Given the description of an element on the screen output the (x, y) to click on. 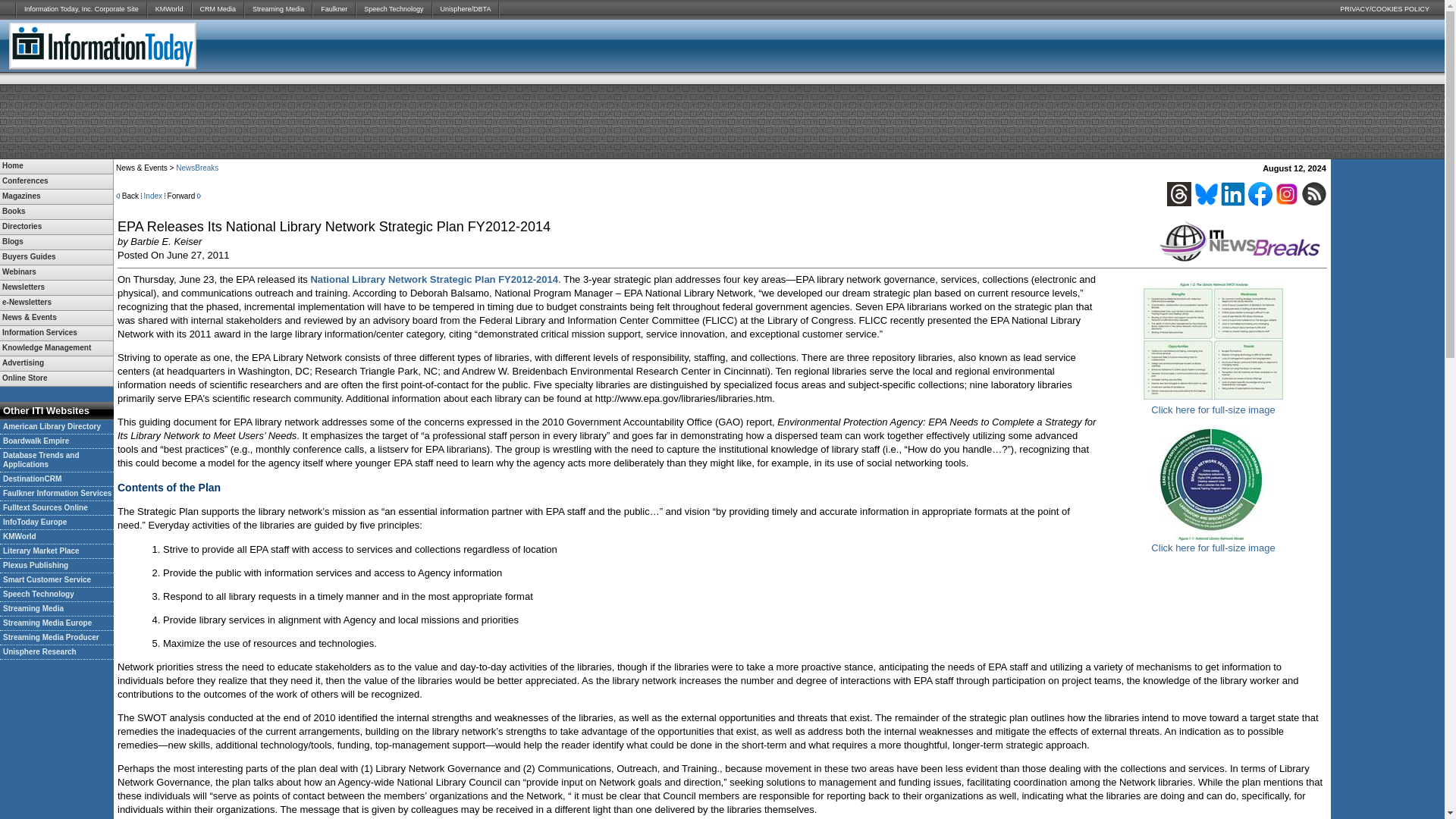
Conferences (56, 181)
Speech Technology (393, 9)
Faulkner (334, 9)
Information Today, Inc. Corporate Site (81, 9)
Home (56, 165)
3rd party ad content (1263, 45)
Streaming Media (277, 9)
Magazines (56, 196)
KMWorld (169, 9)
CRM Media (218, 9)
